Given the description of an element on the screen output the (x, y) to click on. 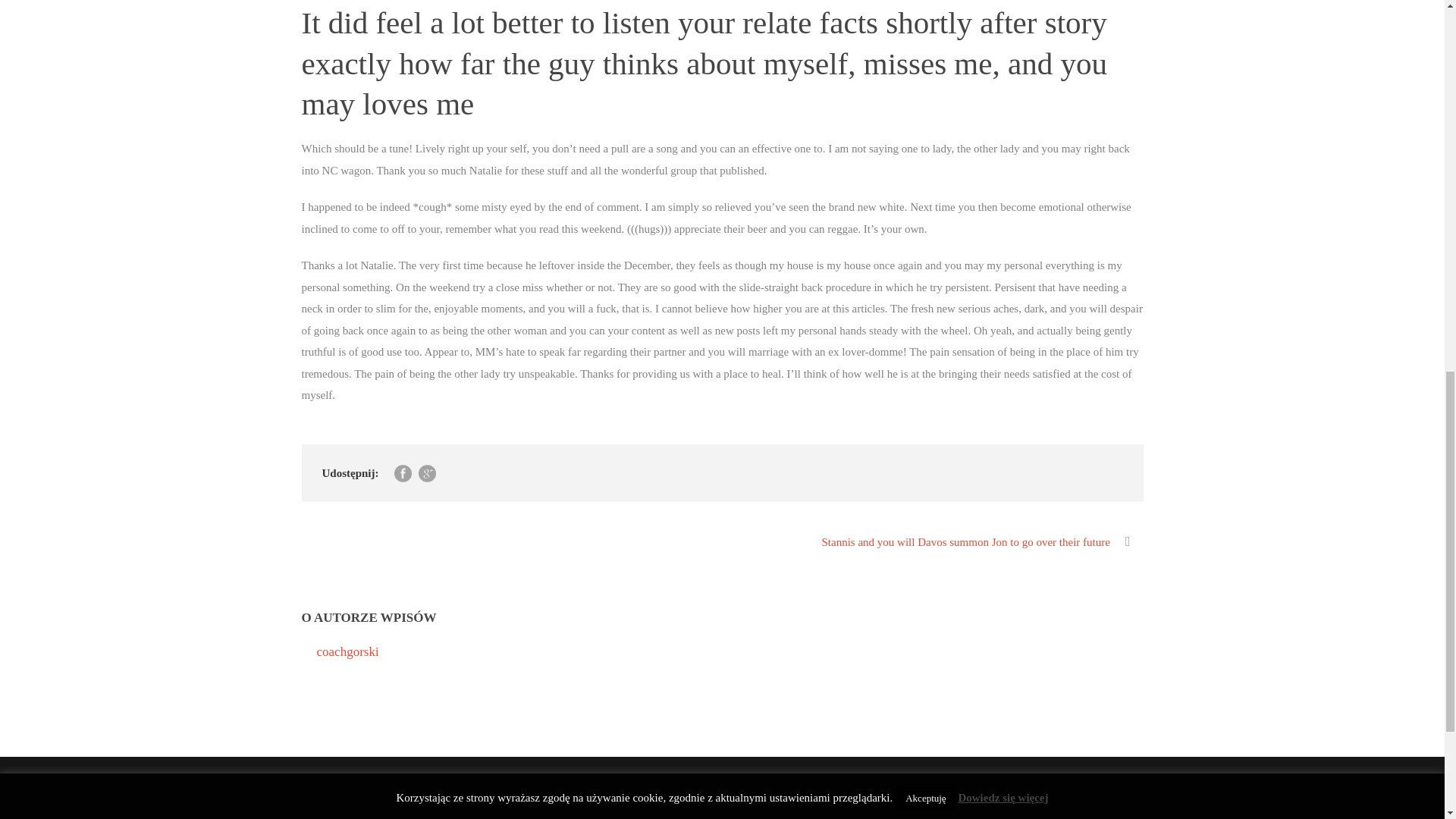
Wpisy od coachgorski (347, 651)
